Given the description of an element on the screen output the (x, y) to click on. 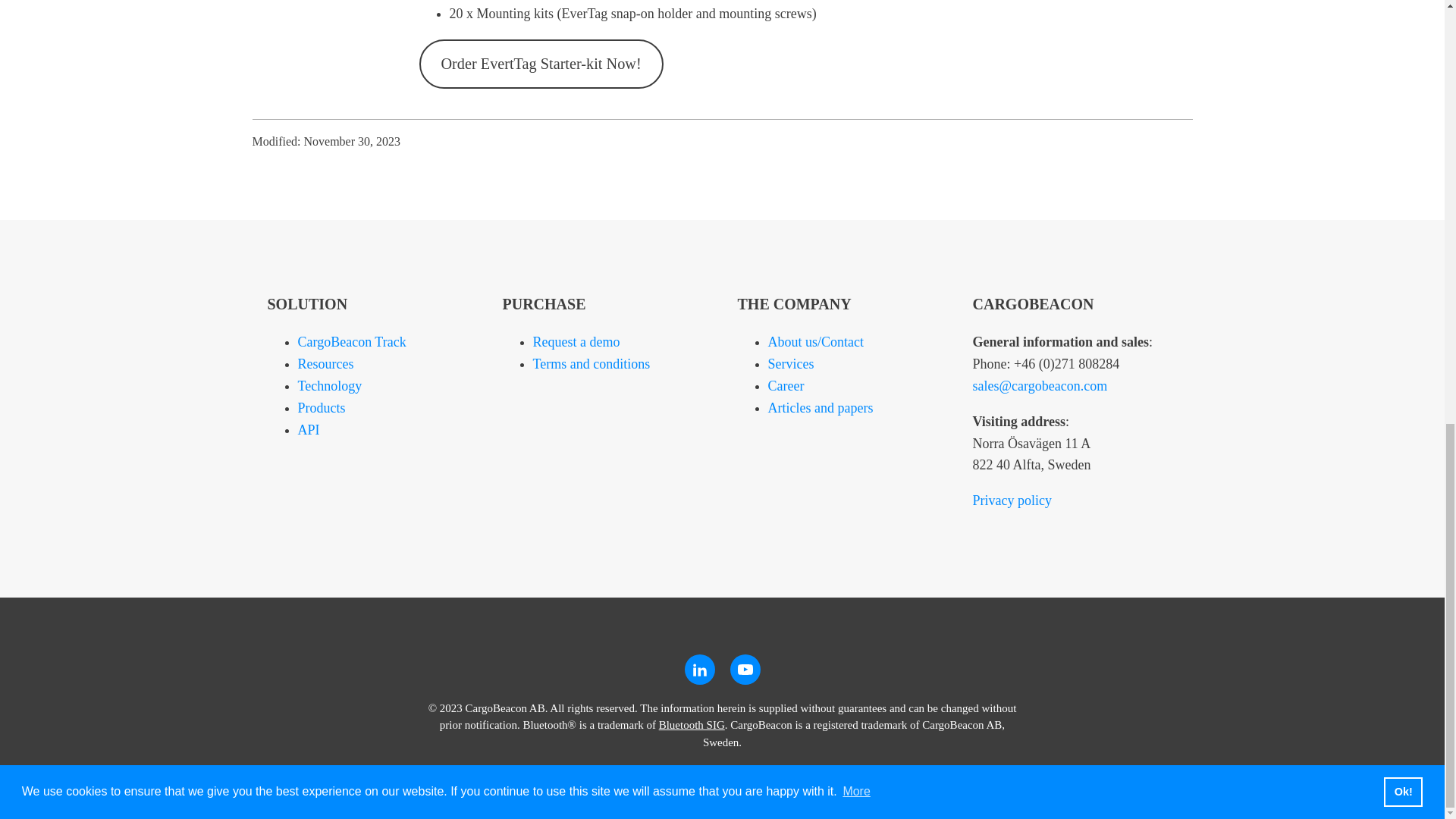
Terms and conditions (590, 363)
Resources (325, 363)
Order EvertTag Starter-kit Now! (540, 63)
Bluetooth SIG (692, 725)
Articles and papers (819, 407)
CargoBeacon Track (351, 341)
Privacy policy (1011, 500)
Services (790, 363)
Products (321, 407)
Request a demo (576, 341)
